Given the description of an element on the screen output the (x, y) to click on. 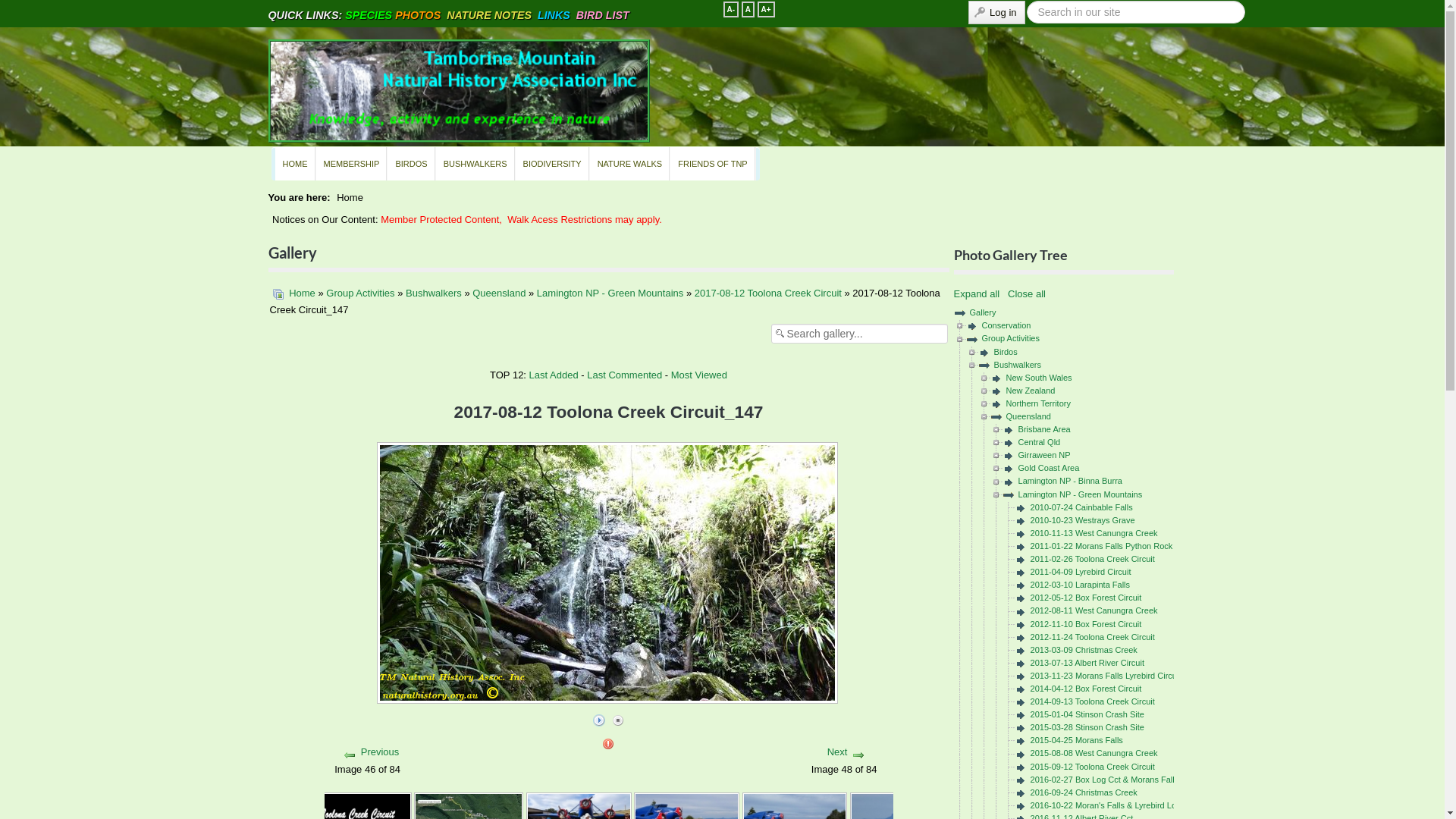
2012-03-10 Larapinta Falls Element type: text (1080, 584)
2015-04-25 Morans Falls Element type: text (1076, 740)
Conservation Element type: text (1006, 325)
Group Activities Element type: text (1010, 338)
2012-11-10 Box Forest Circuit Element type: text (1086, 624)
2016-10-22 Moran's Falls & Lyrebird Lookout Element type: text (1113, 805)
2015-08-08 West Canungra Creek Element type: text (1094, 752)
Gallery Element type: text (982, 312)
A+ Element type: text (766, 9)
2010-07-24 Cainbable Falls Element type: text (1081, 507)
2017-08-12 Toolona Creek Circuit Element type: text (767, 292)
FRIENDS OF TNP Element type: text (712, 163)
BIODIVERSITY Element type: text (552, 163)
Bushwalkers Element type: text (1017, 364)
2015-03-28 Stinson Crash Site Element type: text (1087, 727)
BIRDOS Element type: text (411, 163)
Queensland Element type: text (498, 292)
New South Wales Element type: text (1038, 377)
Brisbane Area Element type: text (1044, 429)
2011-04-09 Lyrebird Circuit Element type: text (1080, 571)
New Zealand Element type: text (1030, 390)
Next Element type: text (837, 751)
2011-01-22 Morans Falls Python Rock Element type: text (1101, 545)
NATURE WALKS Element type: text (630, 163)
Search gallery... Element type: hover (858, 333)
NATURE NOTES Element type: text (488, 15)
2010-11-13 West Canungra Creek Element type: text (1094, 533)
2013-03-09 Christmas Creek Element type: text (1084, 649)
2010-10-23 Westrays Grave Element type: text (1082, 520)
2012-08-11 West Canungra Creek Element type: text (1094, 610)
2012-05-12 Box Forest Circuit Element type: text (1086, 597)
2013-11-23 Morans Falls Lyrebird Circuit Element type: text (1106, 675)
Northern Territory Element type: text (1038, 403)
2012-11-24 Toolona Creek Circuit Element type: text (1092, 636)
Gold Coast Area Element type: text (1048, 467)
Birdos Element type: text (1005, 351)
2015-09-12 Toolona Creek Circuit Element type: text (1092, 766)
MEMBERSHIP Element type: text (351, 163)
HOME Element type: text (294, 163)
A Element type: text (747, 9)
Queensland Element type: text (1028, 416)
Lamington NP - Green Mountains Element type: text (609, 292)
2011-02-26 Toolona Creek Circuit Element type: text (1092, 558)
Girraween NP Element type: text (1044, 454)
Home Element type: text (301, 292)
2014-04-12 Box Forest Circuit Element type: text (1086, 688)
Bushwalkers Element type: text (433, 292)
Central Qld Element type: text (1039, 442)
2016-02-27 Box Log Cct & Morans Falls Element type: text (1104, 779)
Most Viewed Element type: text (699, 374)
2014-09-13 Toolona Creek Circuit Element type: text (1092, 701)
2016-09-24 Christmas Creek Element type: text (1084, 792)
2015-01-04 Stinson Crash Site Element type: text (1087, 714)
SPECIES Element type: text (368, 15)
BUSHWALKERS Element type: text (475, 163)
Expand all   Element type: text (979, 293)
Group Activities Element type: text (360, 292)
Lamington NP - Green Mountains Element type: text (1080, 494)
2013-07-13 Albert River Circuit Element type: text (1087, 662)
Last Commented Element type: text (624, 374)
A- Element type: text (731, 9)
Last Added Element type: text (553, 374)
Previous Element type: text (379, 751)
Lamington NP - Binna Burra Element type: text (1069, 480)
BIRD LIST Element type: text (602, 15)
LINKS Element type: text (553, 15)
PHOTOS Element type: text (417, 15)
Close all Element type: text (1026, 293)
